Given the description of an element on the screen output the (x, y) to click on. 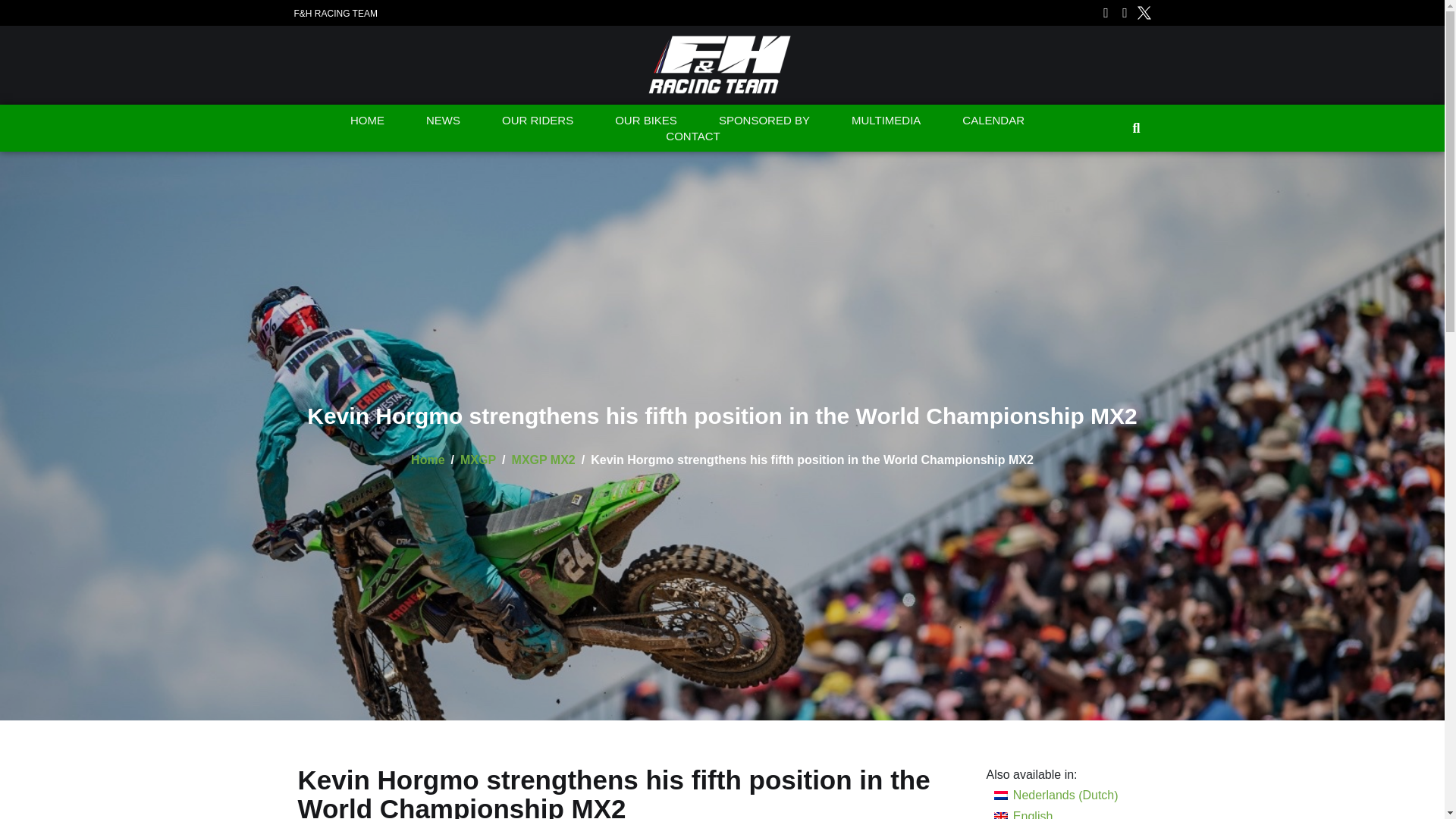
NEWS (443, 119)
OUR RIDERS (537, 119)
HOME (366, 119)
CALENDAR (993, 119)
MXGP (478, 459)
MXGP MX2 (543, 459)
MULTIMEDIA (885, 119)
OUR BIKES (646, 119)
Home (427, 459)
English (1056, 812)
CONTACT (692, 135)
SPONSORED BY (764, 119)
